Given the description of an element on the screen output the (x, y) to click on. 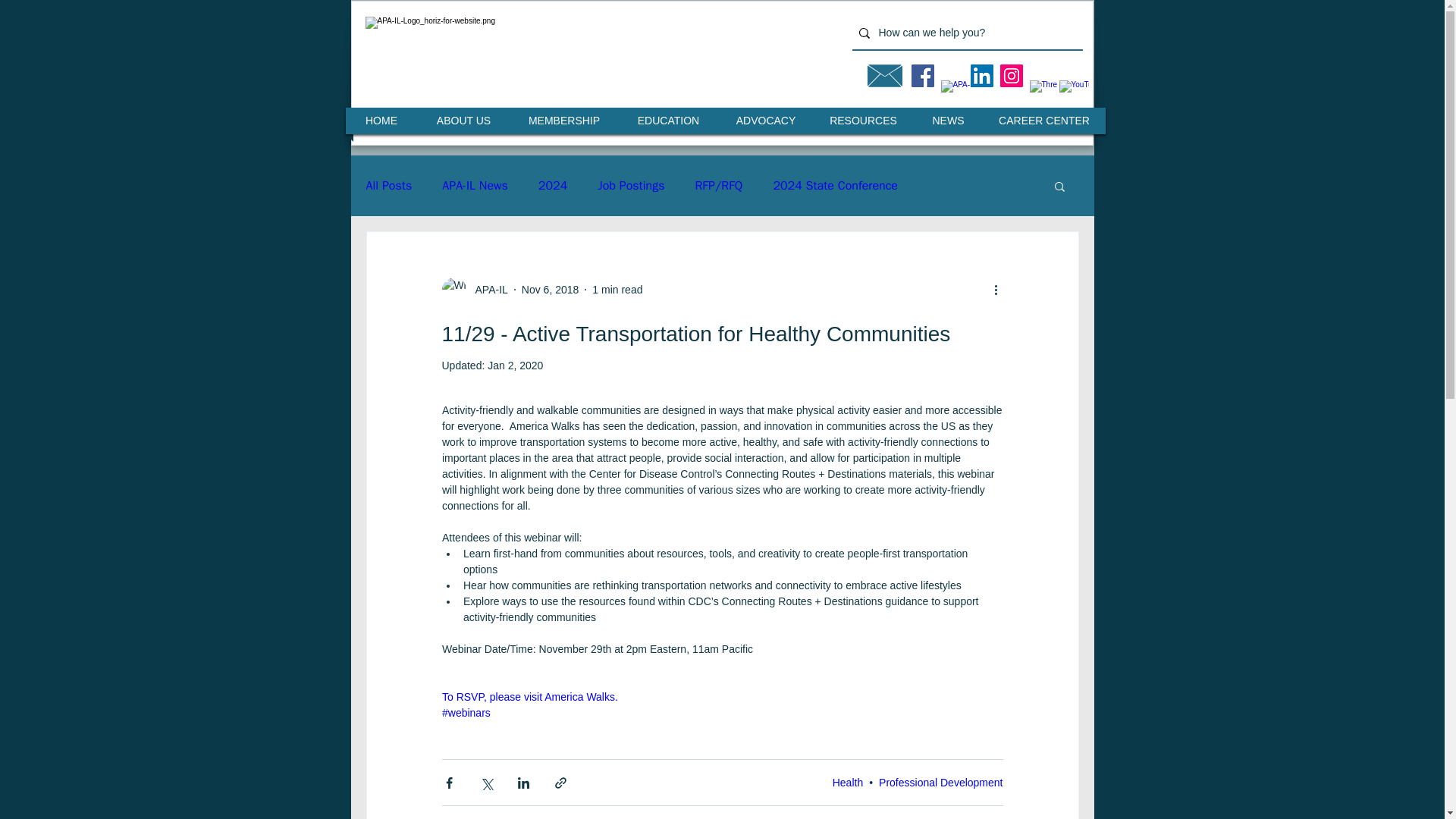
Nov 6, 2018 (550, 289)
HOME (381, 120)
ABOUT US (464, 120)
EDUCATION (667, 120)
1 min read (617, 289)
ADVOCACY (765, 120)
APA-IL (485, 289)
MEMBERSHIP (563, 120)
Jan 2, 2020 (515, 365)
